Given the description of an element on the screen output the (x, y) to click on. 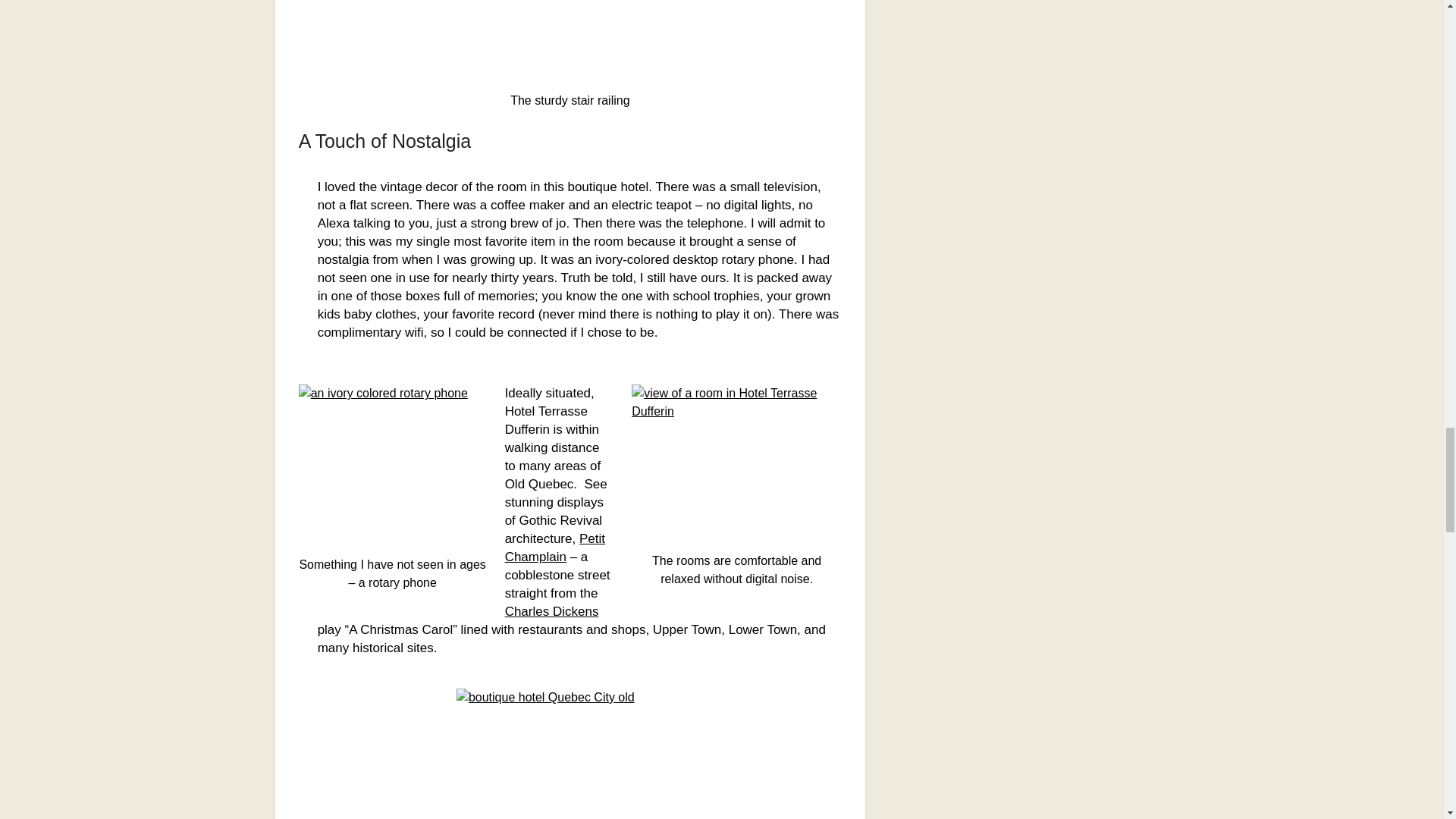
Boutique Hotel in Old Quebec City that will captivate you 8 (392, 465)
Boutique Hotel in Old Quebec City that will captivate you 9 (736, 463)
Boutique Hotel in Old Quebec City that will captivate you 7 (569, 40)
Boutique Hotel in Old Quebec City that will captivate you 10 (570, 753)
